Given the description of an element on the screen output the (x, y) to click on. 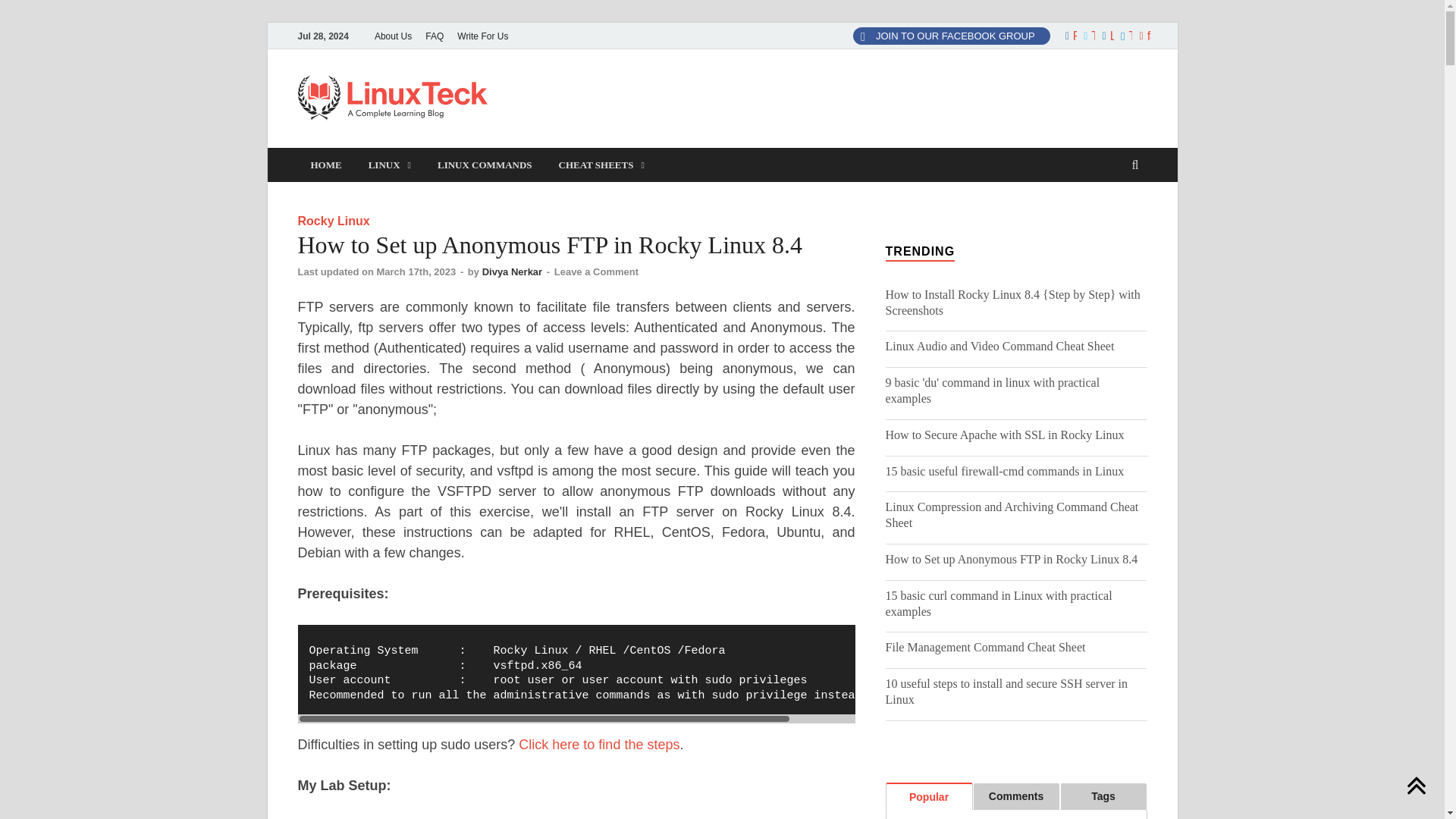
Facebook (1069, 36)
Write For Us (482, 35)
About Us (393, 35)
Rocky Linux (333, 220)
Click here to find the steps (598, 744)
Twitter (1124, 36)
LINUX COMMANDS (484, 164)
Last updated on March 17th, 2023 (377, 271)
JOIN TO OUR FACEBOOK GROUP (951, 36)
Divya Nerkar (512, 271)
CHEAT SHEETS (602, 164)
LINUX (389, 164)
Twitter (1087, 36)
FAQ (434, 35)
Leave a Comment (596, 271)
